Given the description of an element on the screen output the (x, y) to click on. 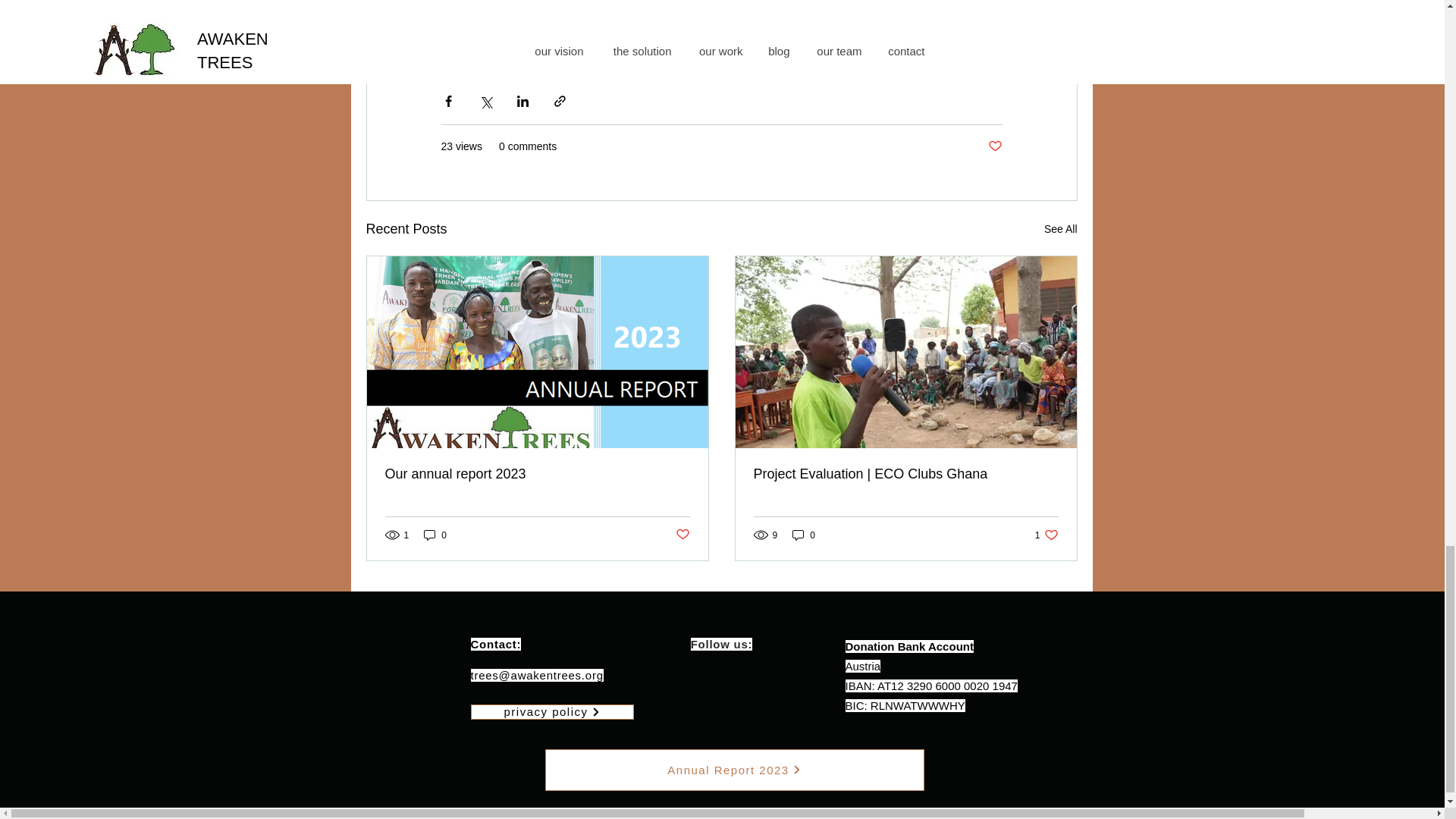
privacy policy (551, 711)
0 (1046, 534)
Post not marked as liked (803, 534)
See All (994, 146)
Annual Report 2023 (1060, 228)
Post not marked as liked (733, 770)
0 (681, 534)
Our annual report 2023 (435, 534)
